Given the description of an element on the screen output the (x, y) to click on. 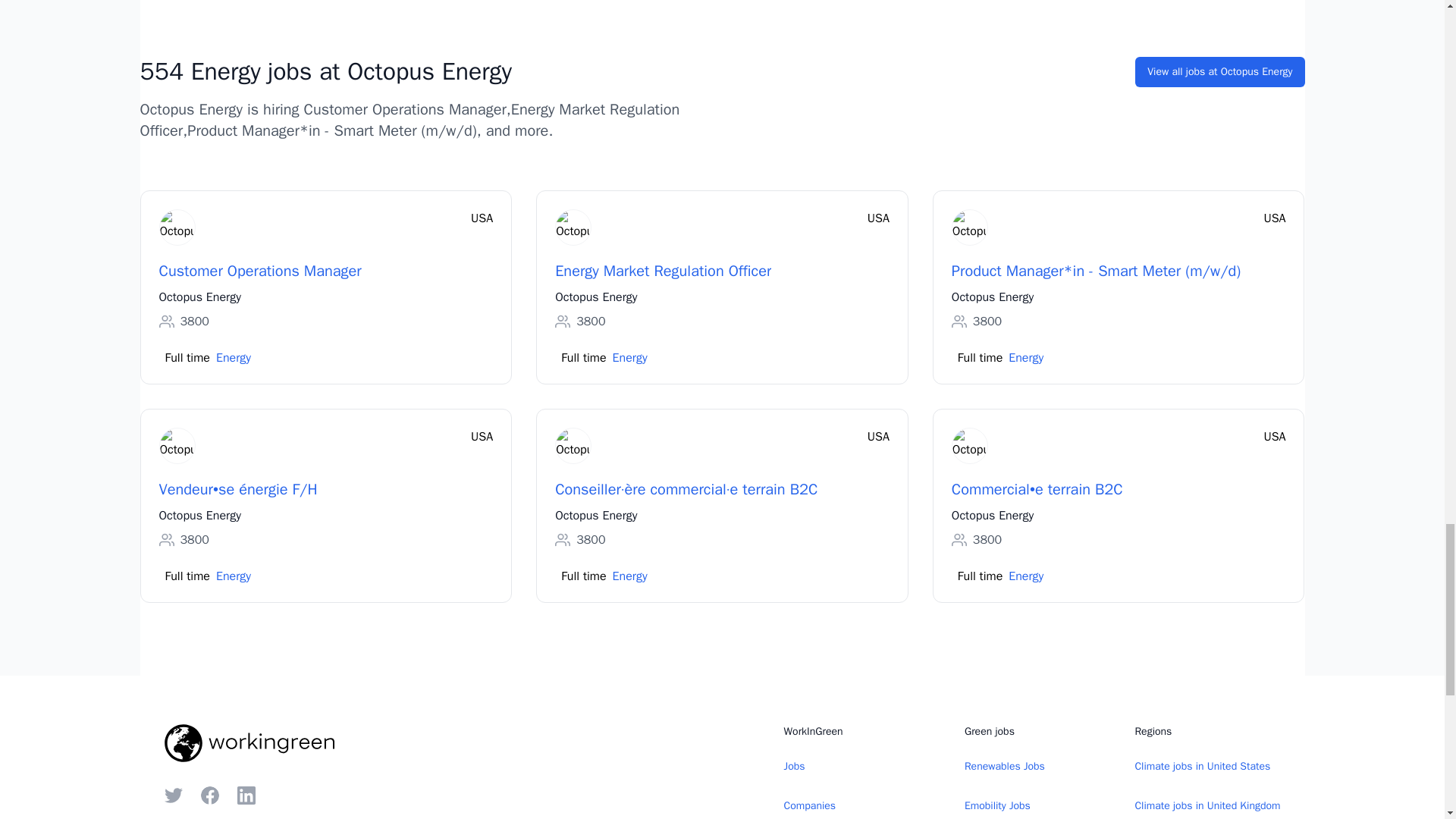
View all jobs at Octopus Energy (1219, 71)
Energy (629, 357)
Octopus Energy (595, 297)
Energy (232, 357)
Octopus Energy (992, 297)
Octopus Energy (199, 297)
Customer Operations Manager (259, 271)
Energy Market Regulation Officer (662, 271)
